Given the description of an element on the screen output the (x, y) to click on. 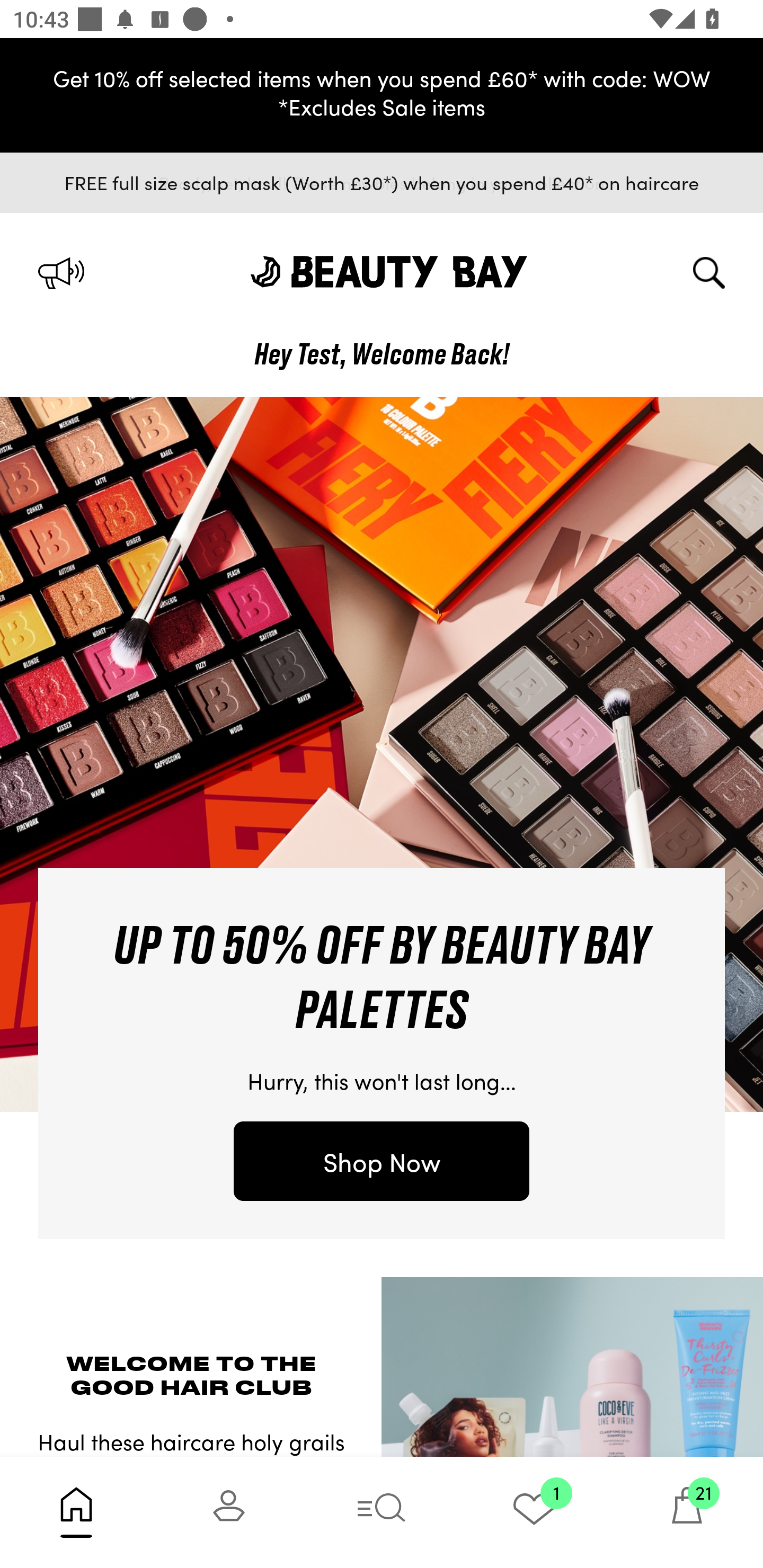
1 (533, 1512)
21 (686, 1512)
